Given the description of an element on the screen output the (x, y) to click on. 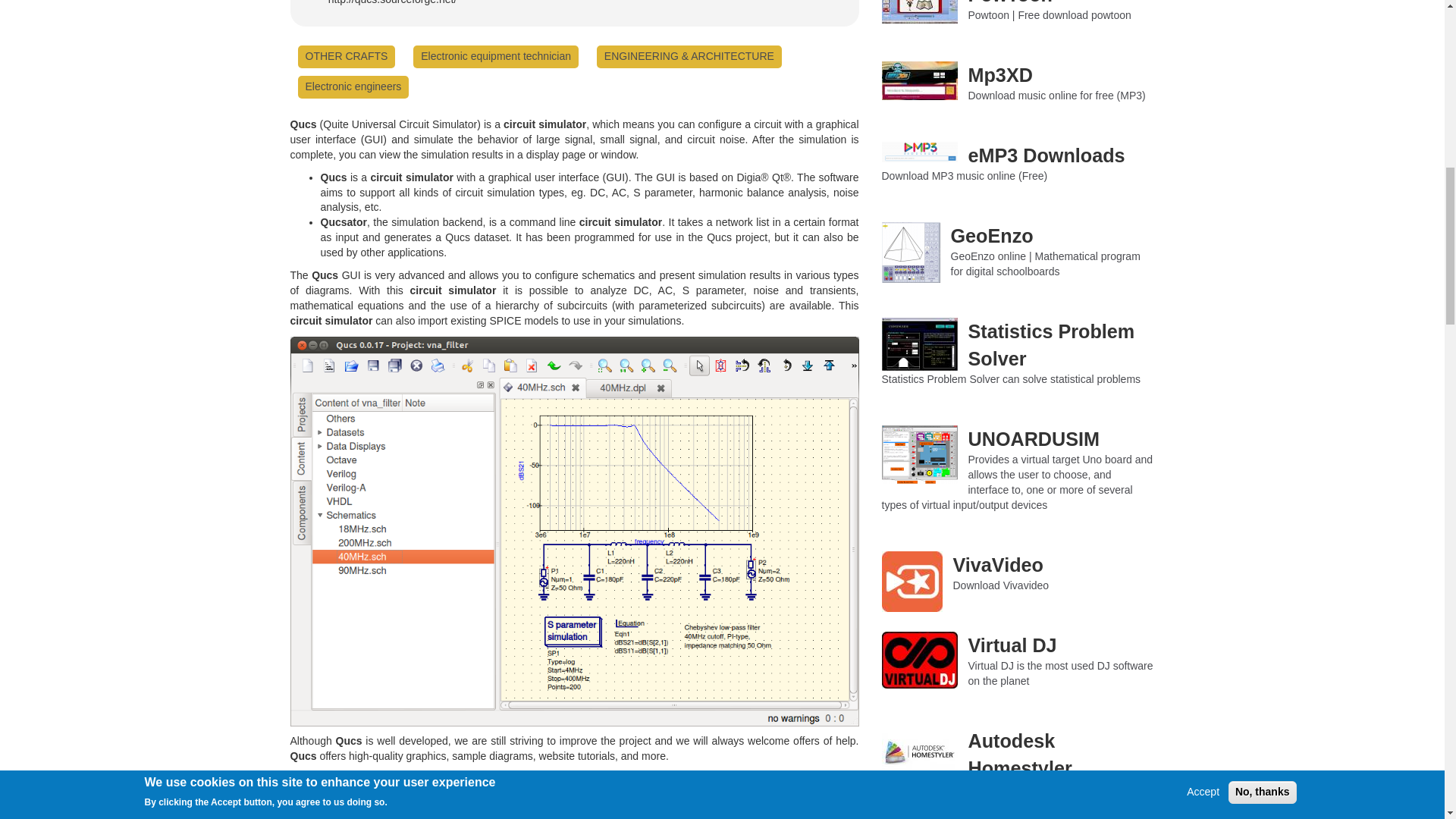
Free Powtoon (918, 11)
Autodesk Homestyler (918, 750)
OTHER CRAFTS (345, 56)
Electronic engineers (352, 87)
Download MP3 music online Free (918, 151)
Statistics Problem Solver (918, 344)
Statistics Problem Solver can solve statistical problems (1010, 378)
VirtualDj (918, 659)
Electronic equipment technician (495, 56)
GeoEnzo (909, 251)
download vivavideo (911, 581)
